Given the description of an element on the screen output the (x, y) to click on. 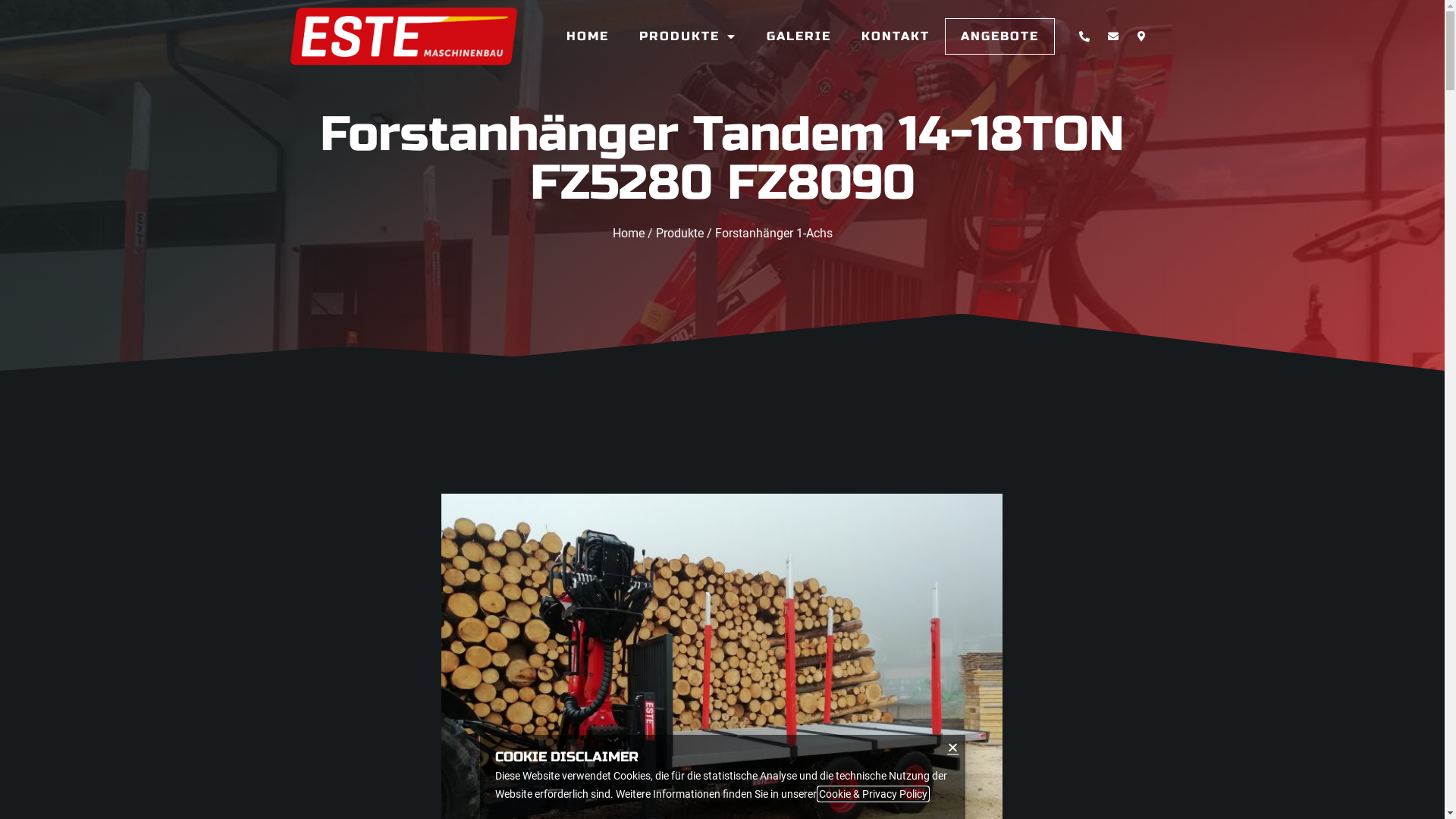
KONTAKT Element type: text (895, 36)
PRODUKTE Element type: text (687, 36)
HOME Element type: text (587, 36)
ANGEBOTE Element type: text (999, 35)
GALERIE Element type: text (798, 36)
Cookie & Privacy Policy Element type: text (873, 793)
